Given the description of an element on the screen output the (x, y) to click on. 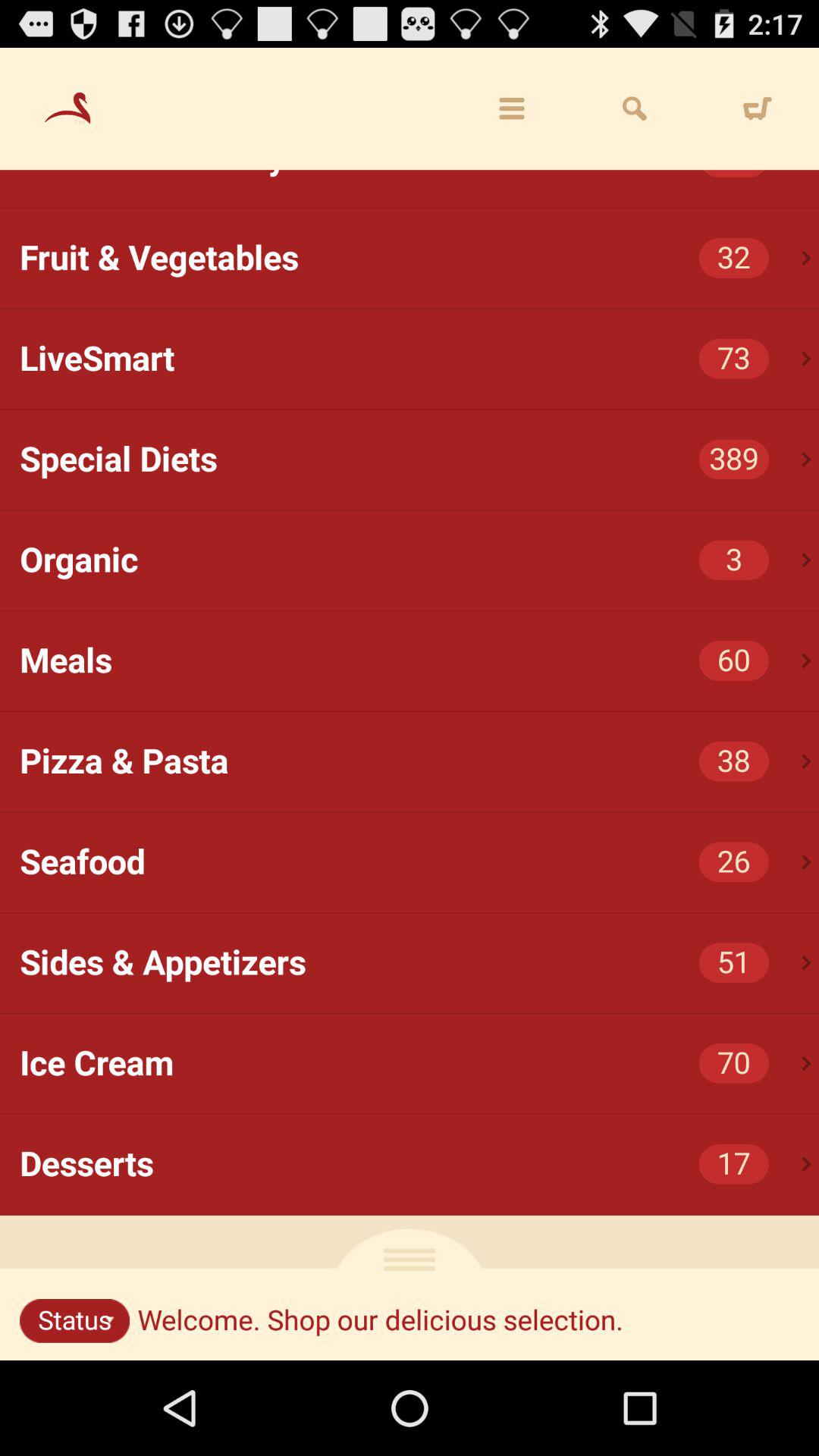
tap the icon above organic icon (806, 459)
